Given the description of an element on the screen output the (x, y) to click on. 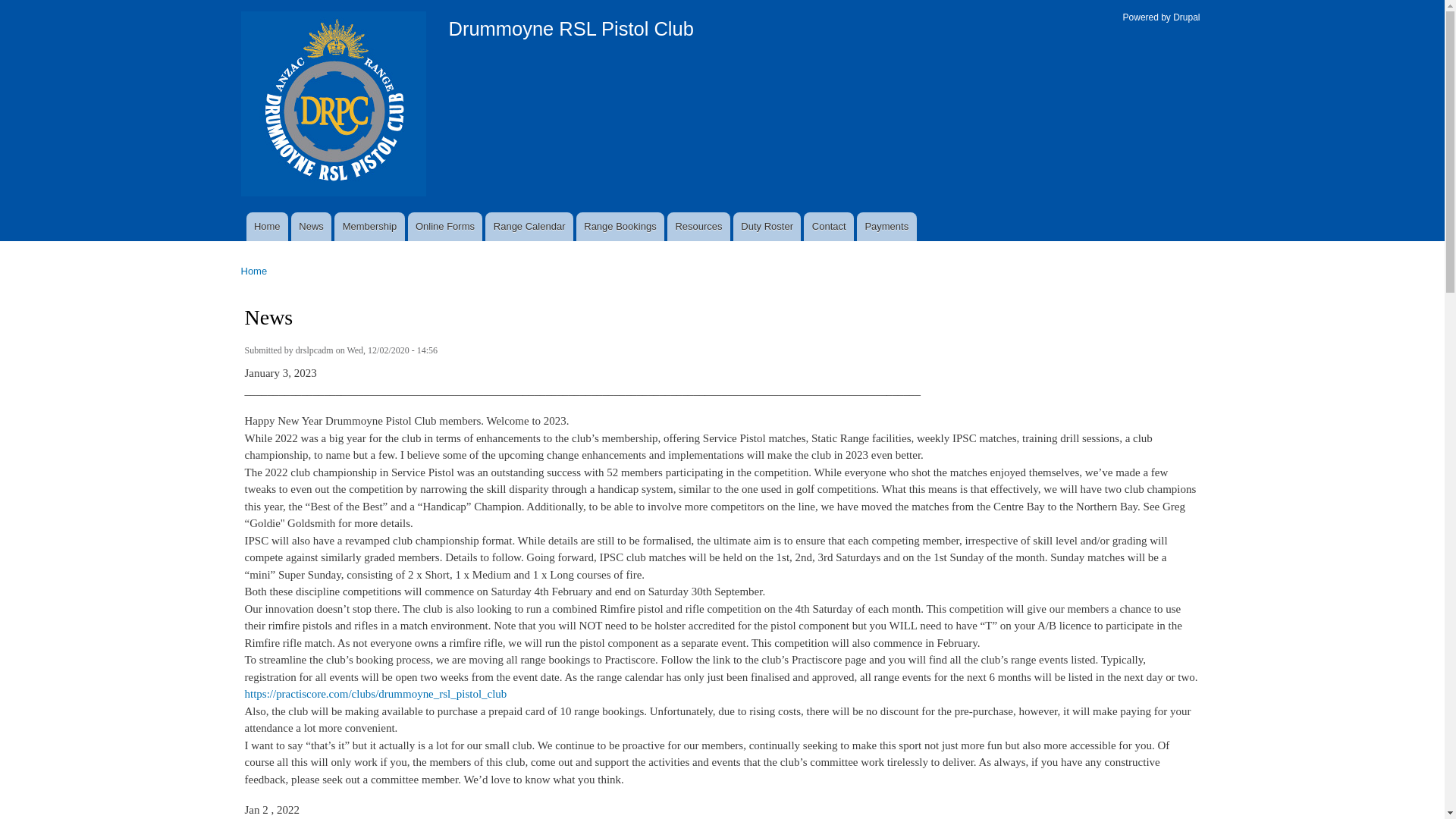
Resources Element type: text (698, 226)
Duty Roster Element type: text (766, 226)
Range Bookings Element type: text (620, 226)
Membership Element type: text (369, 226)
Drummoyne RSL Pistol Club Element type: text (570, 28)
Home Element type: text (254, 270)
Skip to main content Element type: text (690, 1)
Contact Element type: text (828, 226)
News Element type: text (311, 226)
https://practiscore.com/clubs/drummoyne_rsl_pistol_club Element type: text (375, 693)
Drupal Element type: text (1186, 17)
Online Forms Element type: text (445, 226)
Payments Element type: text (886, 226)
Home Element type: hover (335, 106)
Home Element type: text (266, 226)
Range Calendar Element type: text (528, 226)
